Given the description of an element on the screen output the (x, y) to click on. 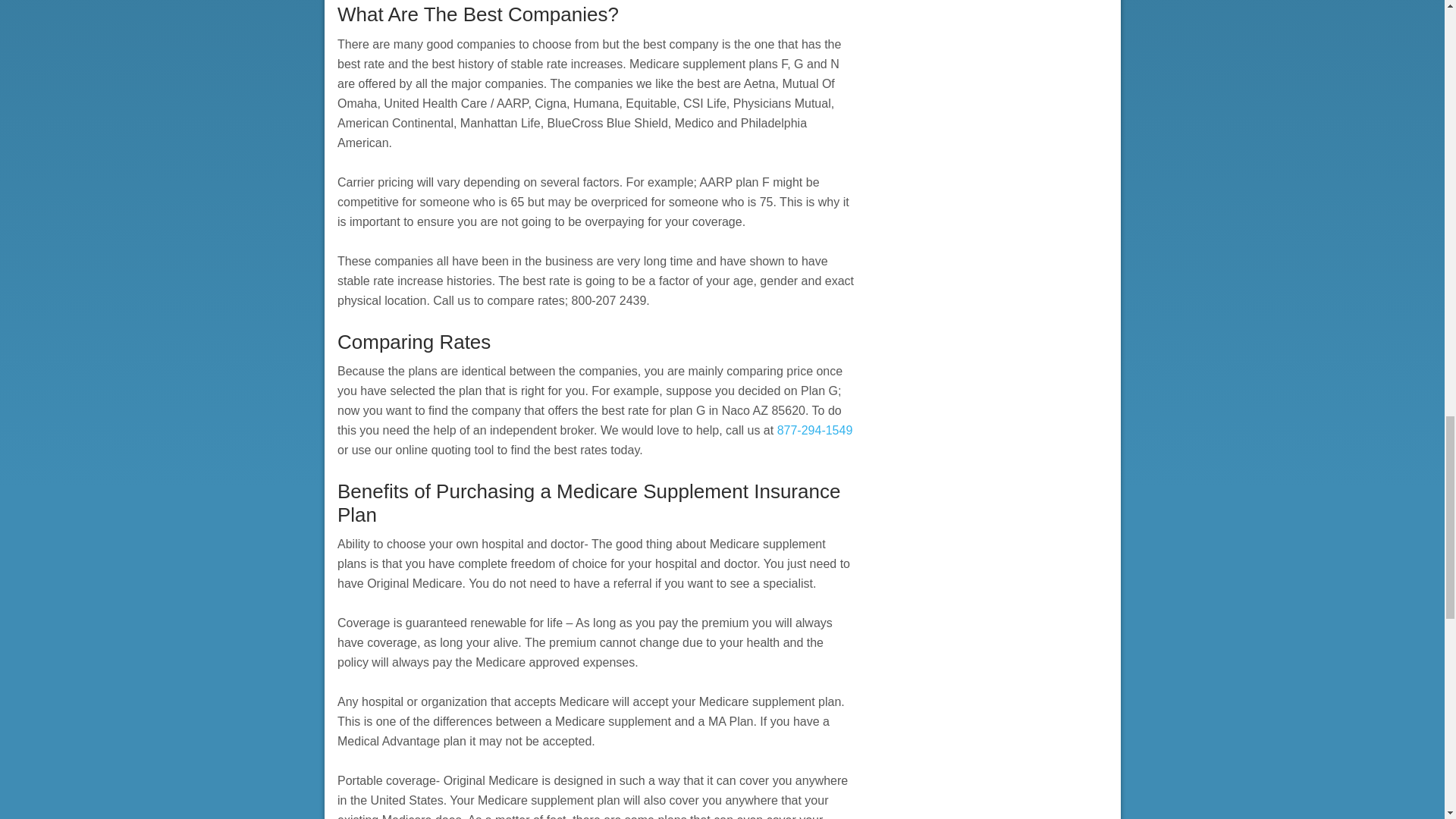
877-294-1549 (815, 430)
